Given the description of an element on the screen output the (x, y) to click on. 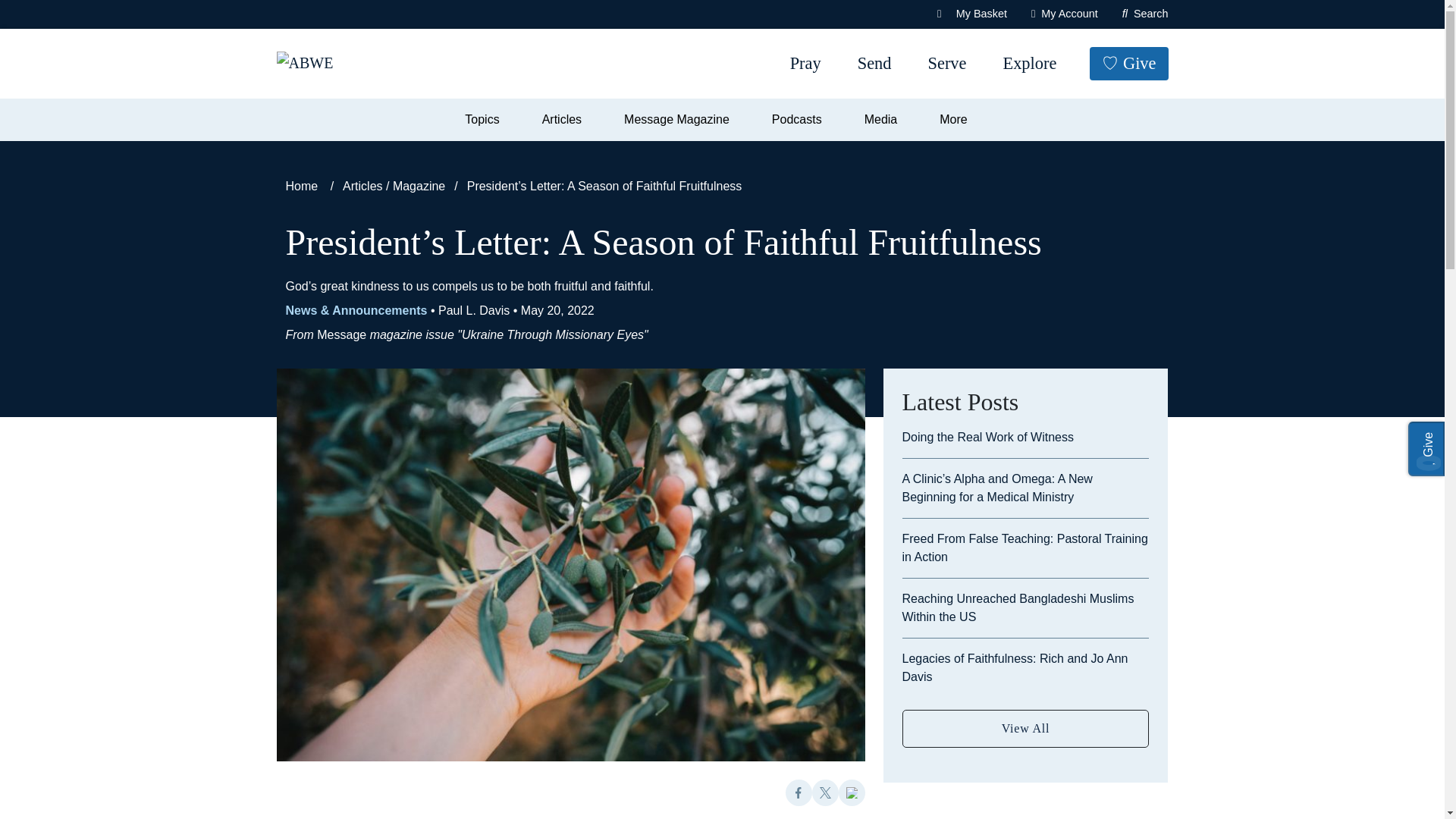
Search (1145, 14)
Topics (487, 119)
Pray (805, 63)
Search (64, 18)
Articles (567, 119)
My Account (1063, 14)
Serve (946, 63)
Explore (1028, 63)
Message Magazine (682, 119)
Articles (567, 119)
